Given the description of an element on the screen output the (x, y) to click on. 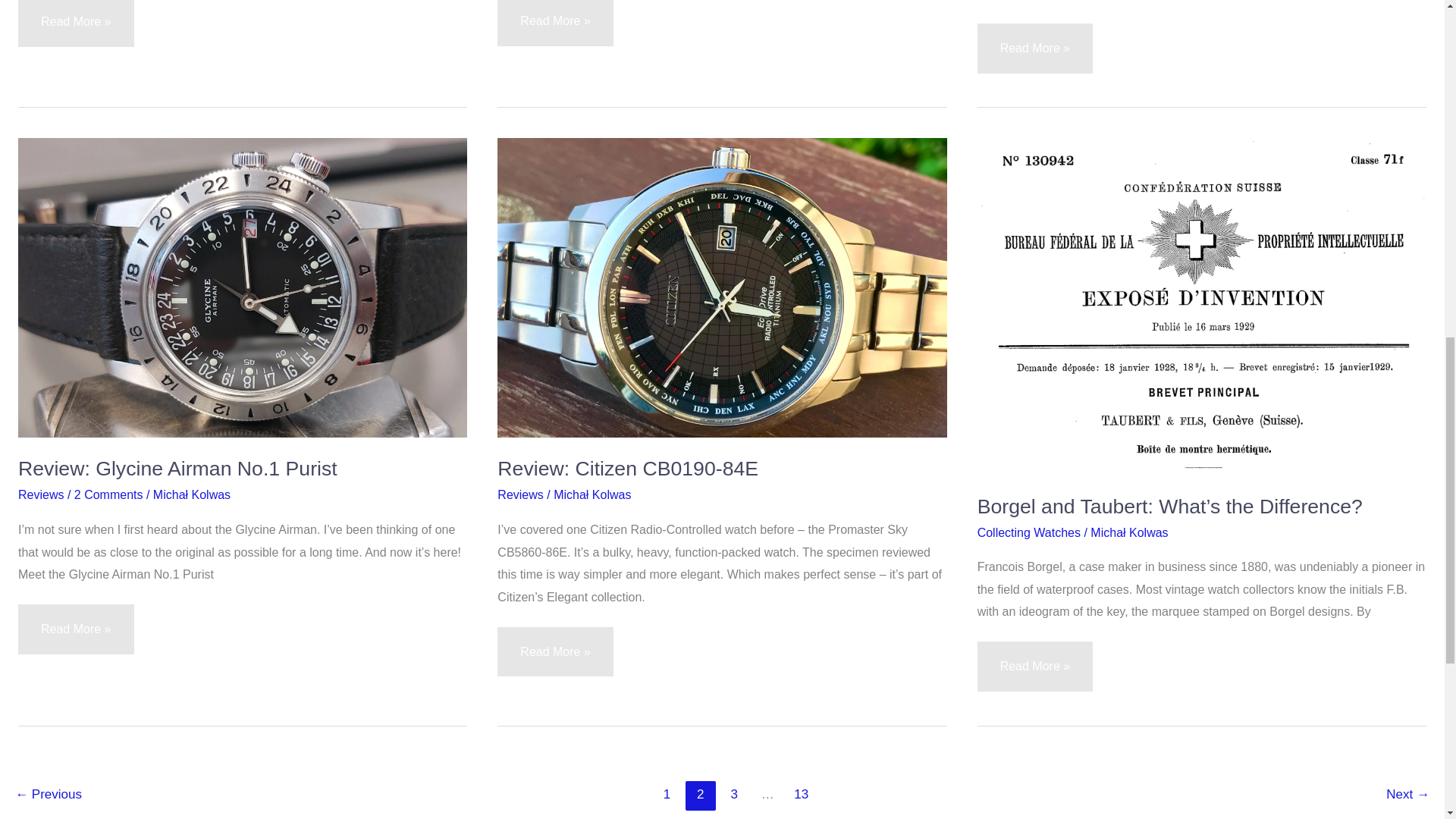
Review: Citizen CB0190-84E (627, 468)
2 Comments (108, 494)
Review: Glycine Airman No.1 Purist (177, 468)
Reviews (40, 494)
Reviews (520, 494)
